Given the description of an element on the screen output the (x, y) to click on. 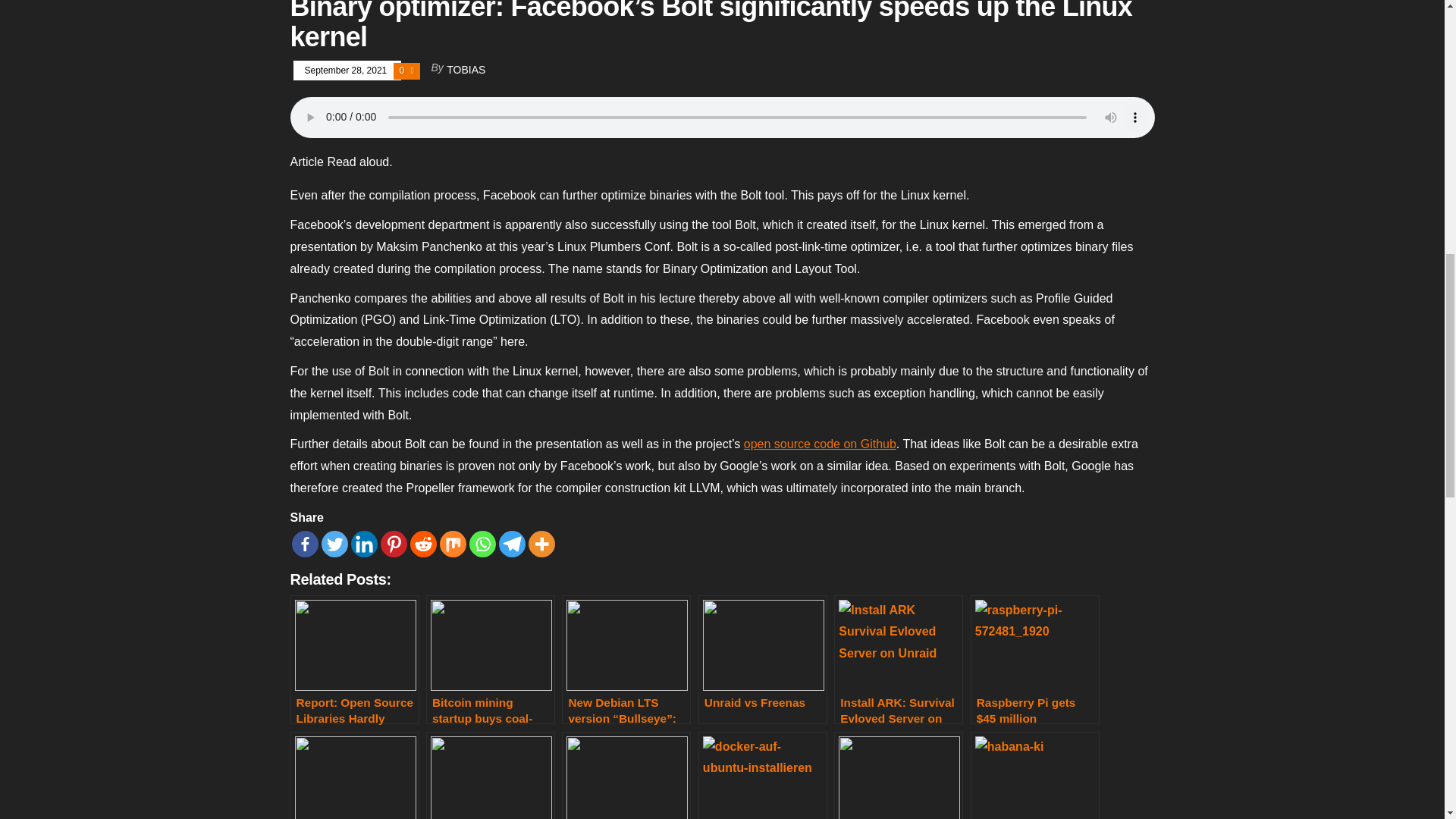
open source code on Github (820, 443)
Linux Facts and figures (490, 775)
Facebook (304, 543)
Twitter (334, 543)
Install ARK: Survival Evloved Server on Unraid (898, 659)
Linkedin (363, 543)
Reddit (422, 543)
Report: Open Source Libraries Hardly Updated in Companies (354, 659)
Install Unraid (354, 775)
TOBIAS (465, 69)
Pinterest (393, 543)
Unraid vs Freenas (762, 659)
